Given the description of an element on the screen output the (x, y) to click on. 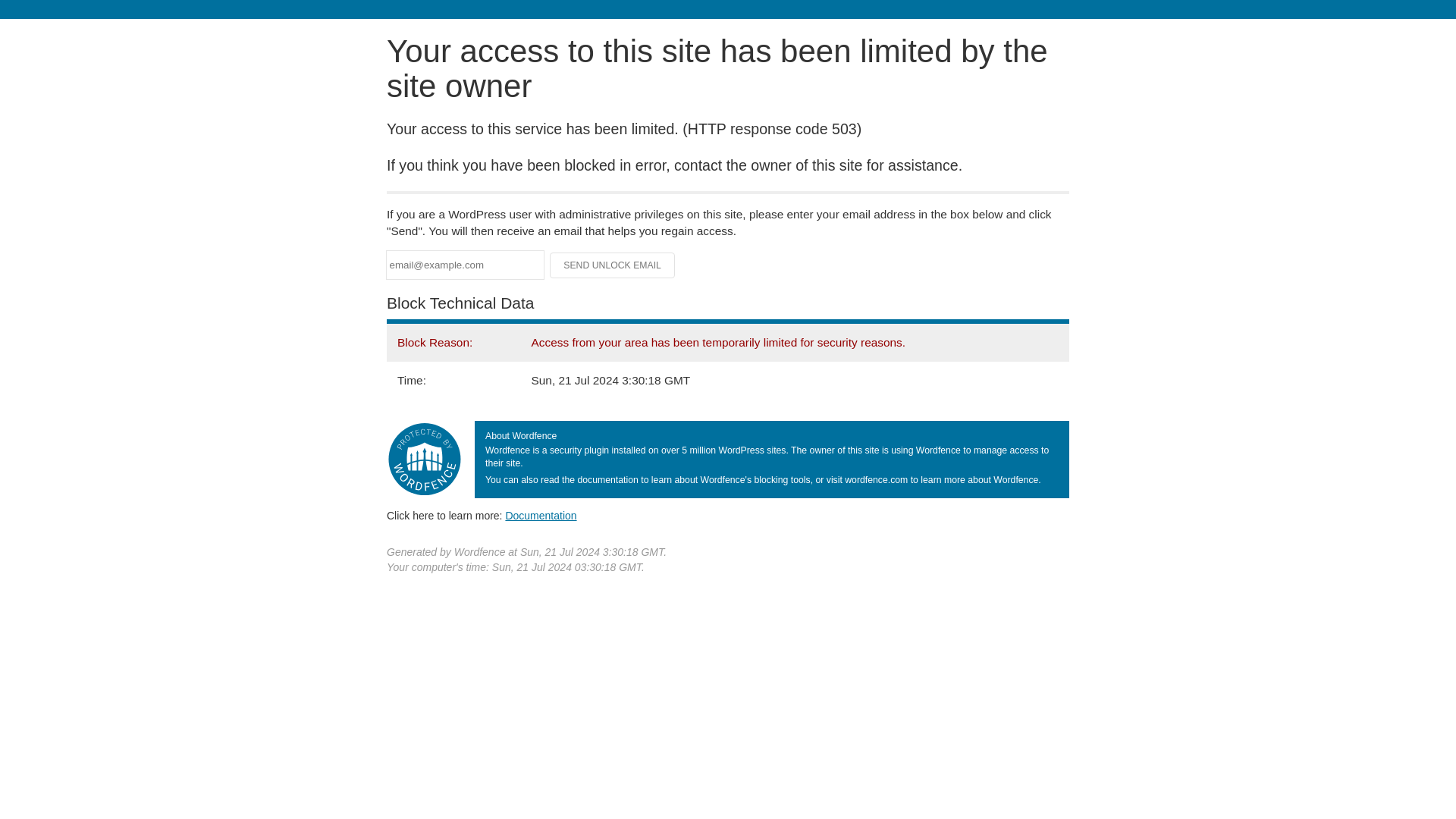
Documentation (540, 515)
Send Unlock Email (612, 265)
Send Unlock Email (612, 265)
